Given the description of an element on the screen output the (x, y) to click on. 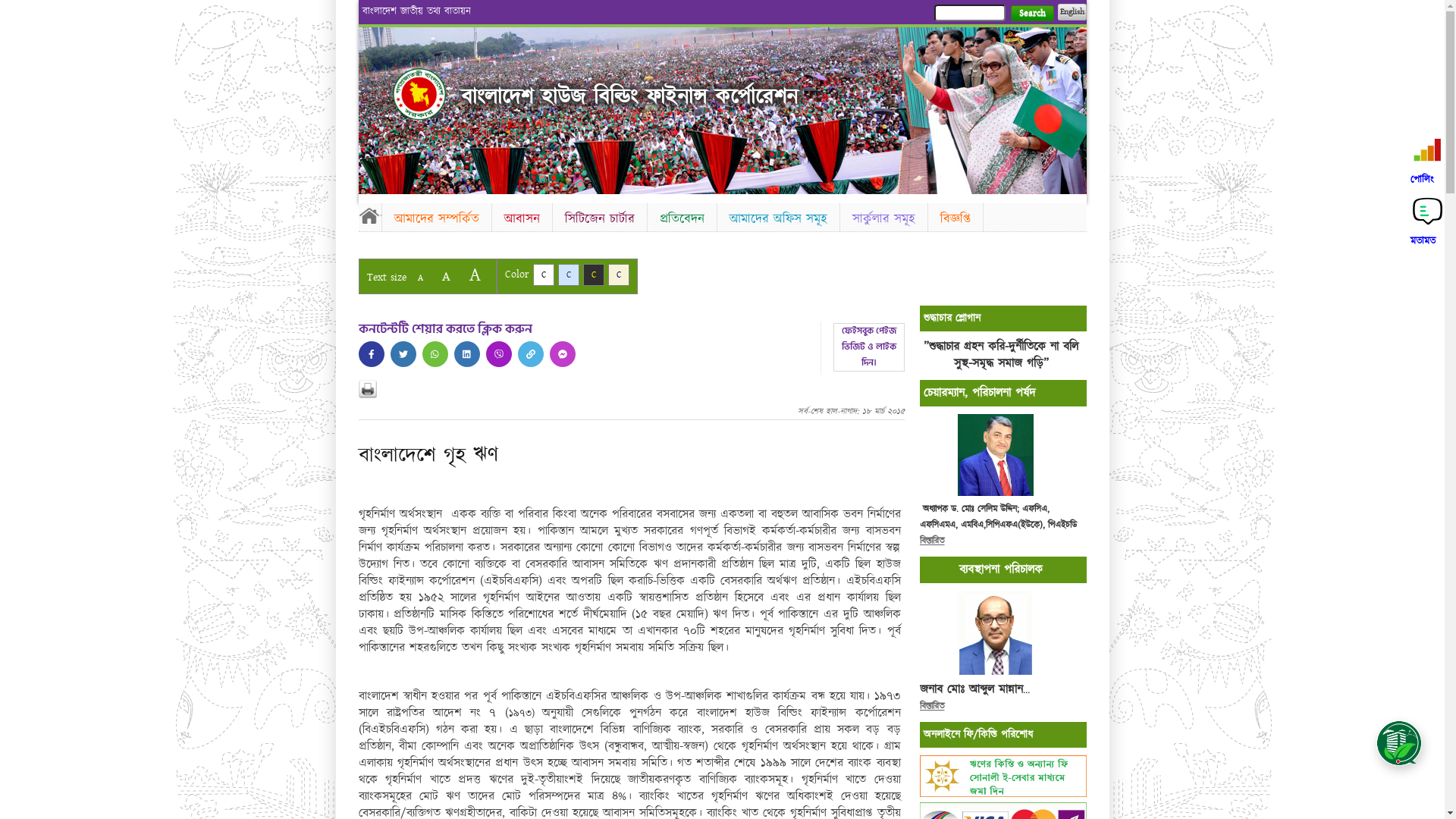
English Element type: text (1071, 11)
Search Element type: text (1031, 13)
C Element type: text (592, 274)
C Element type: text (542, 274)
A Element type: text (419, 277)
C Element type: text (618, 274)
Home Element type: hover (418, 93)
A Element type: text (445, 276)
Home Element type: hover (368, 215)
C Element type: text (568, 274)
A Element type: text (474, 274)
